Given the description of an element on the screen output the (x, y) to click on. 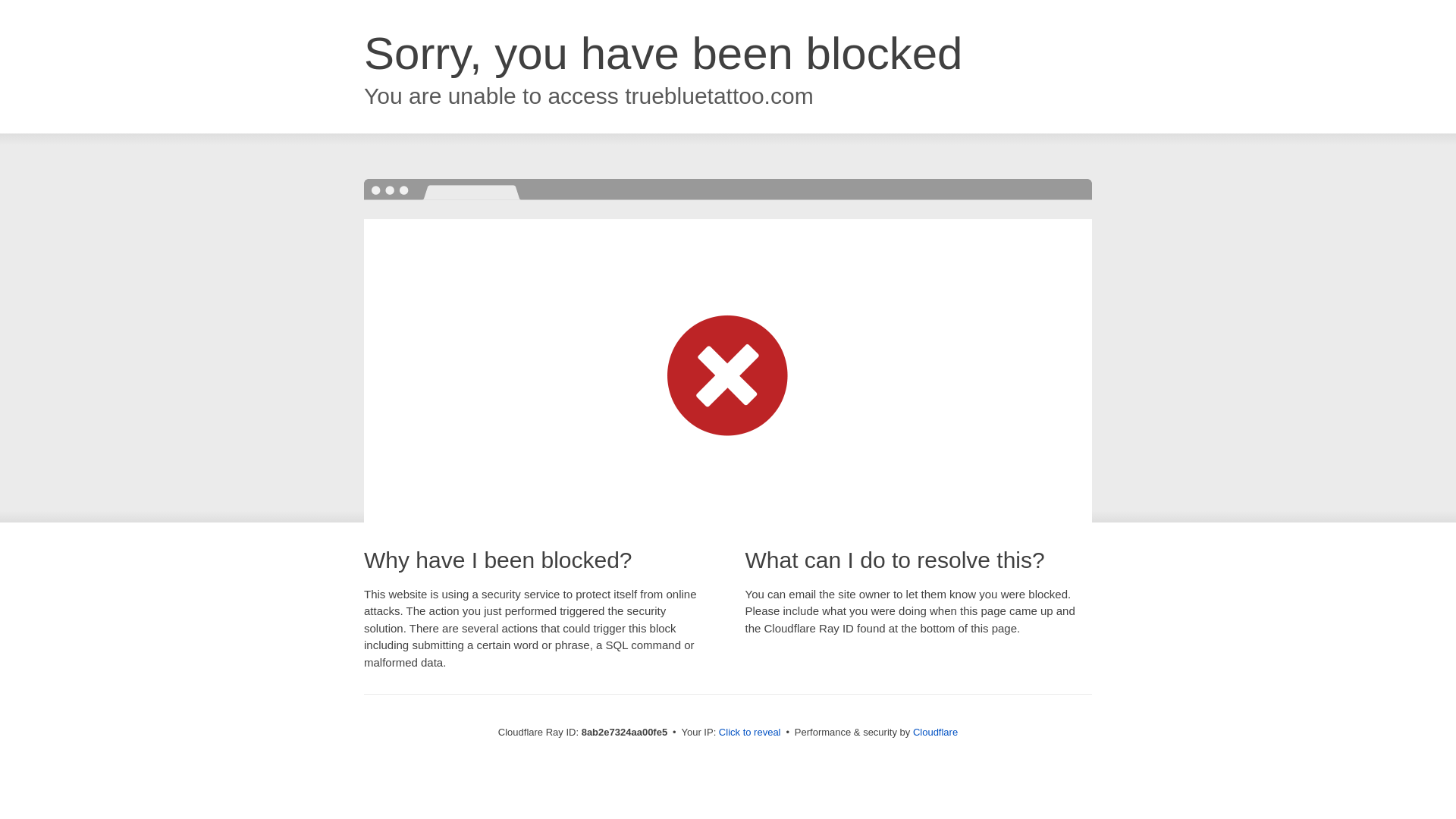
Cloudflare (935, 731)
Click to reveal (749, 732)
